Given the description of an element on the screen output the (x, y) to click on. 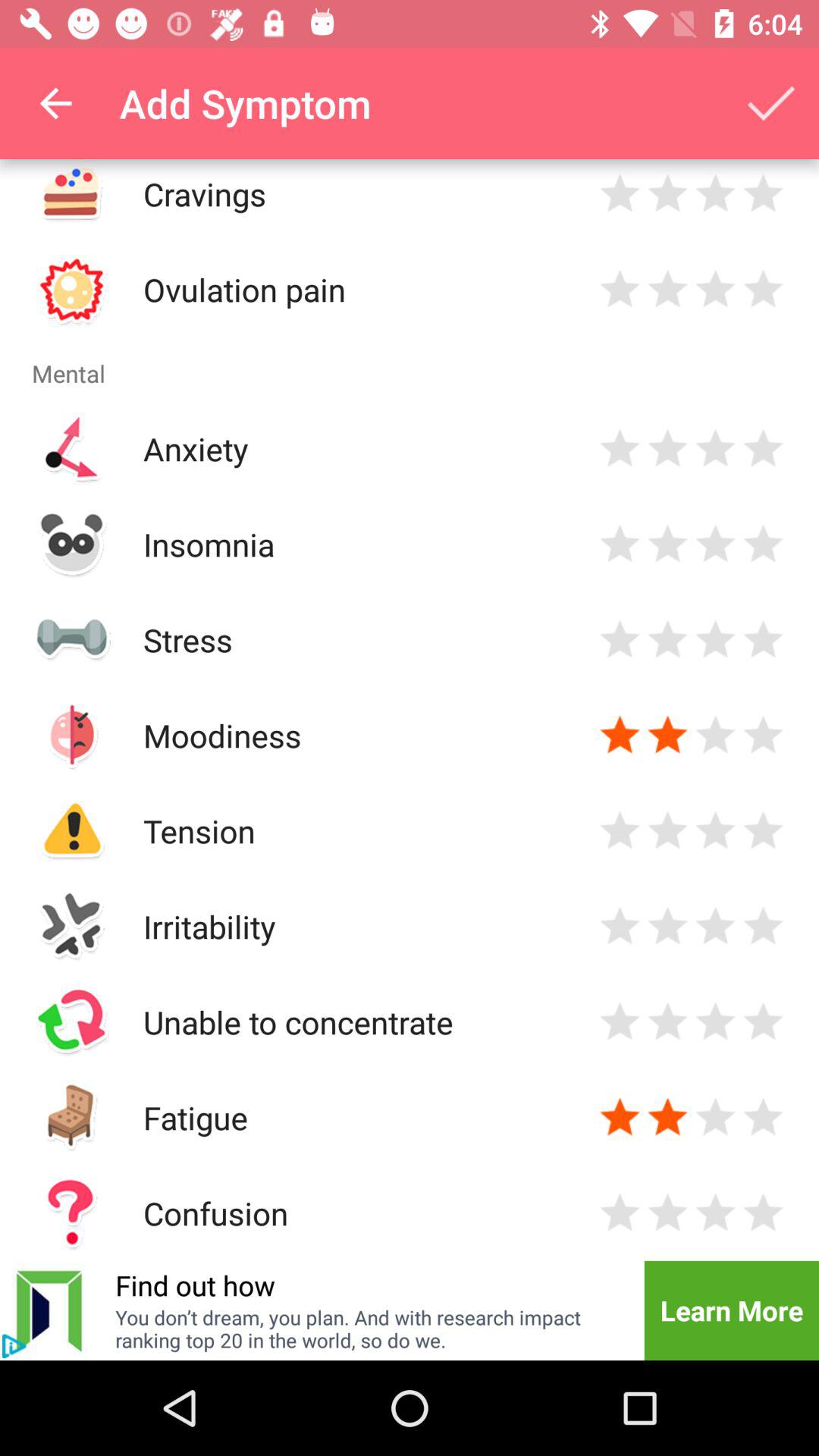
select rating (763, 926)
